Given the description of an element on the screen output the (x, y) to click on. 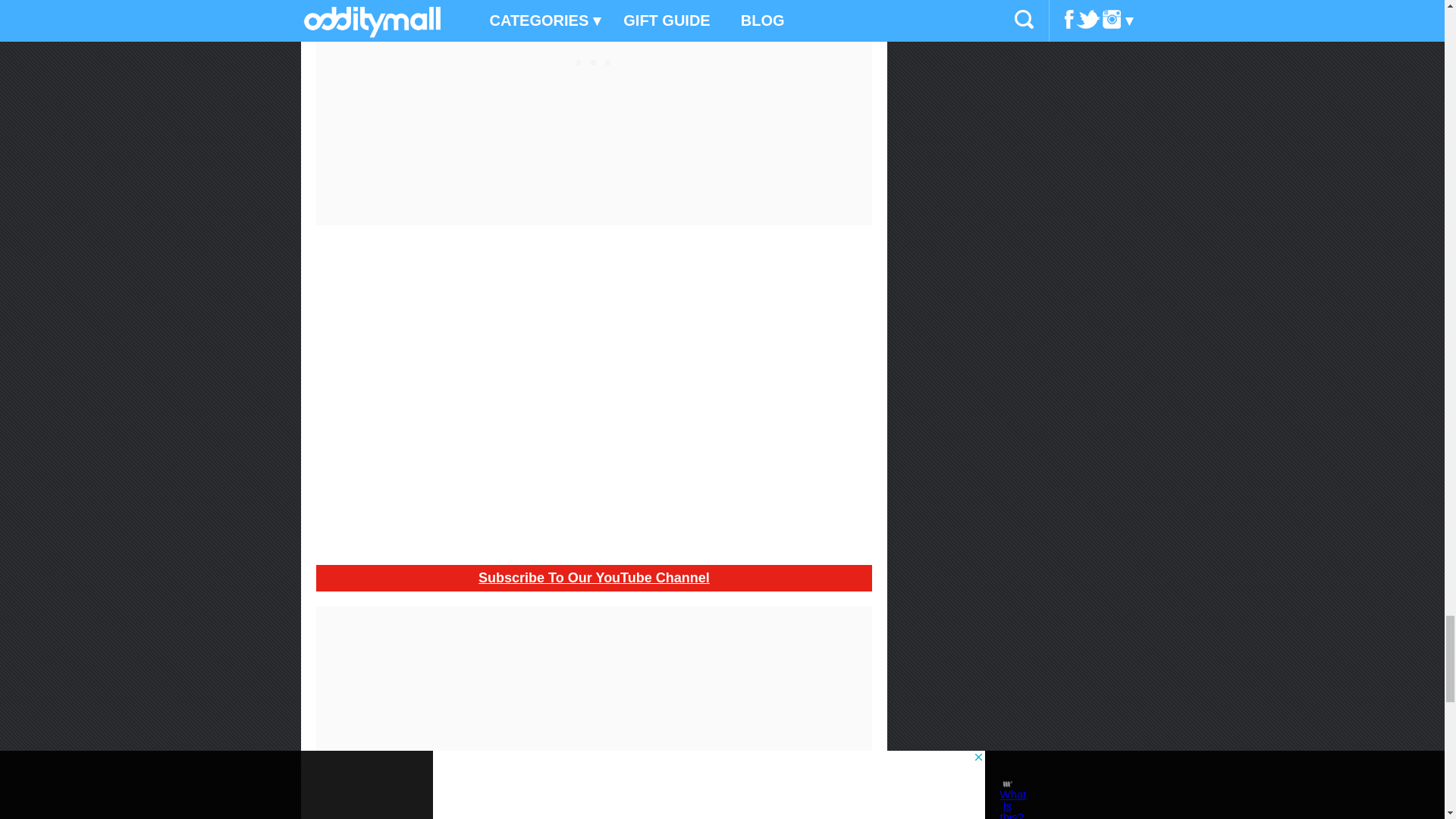
Subscribe To Our YouTube Channel (593, 578)
